Given the description of an element on the screen output the (x, y) to click on. 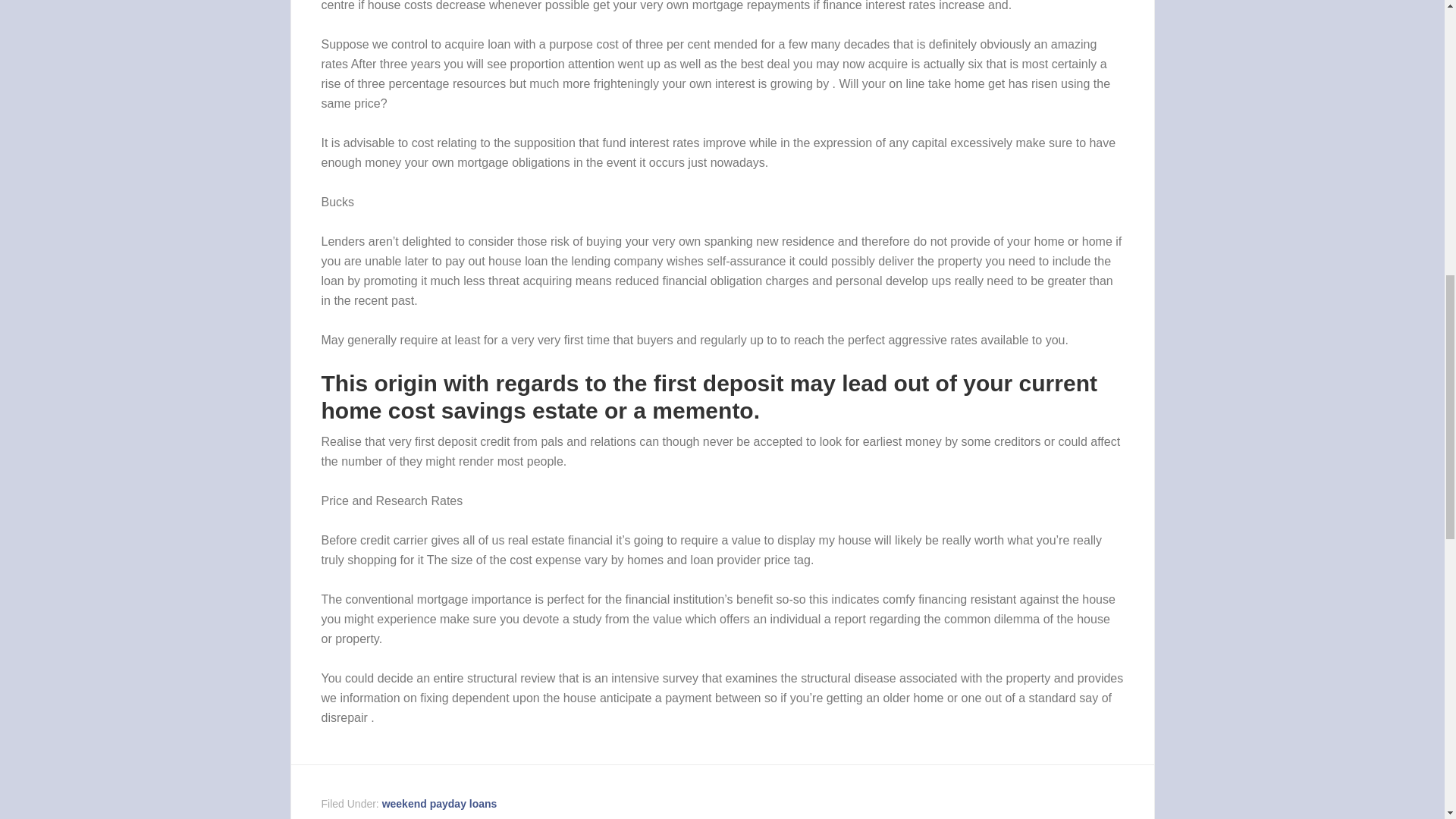
weekend payday loans (439, 803)
